Given the description of an element on the screen output the (x, y) to click on. 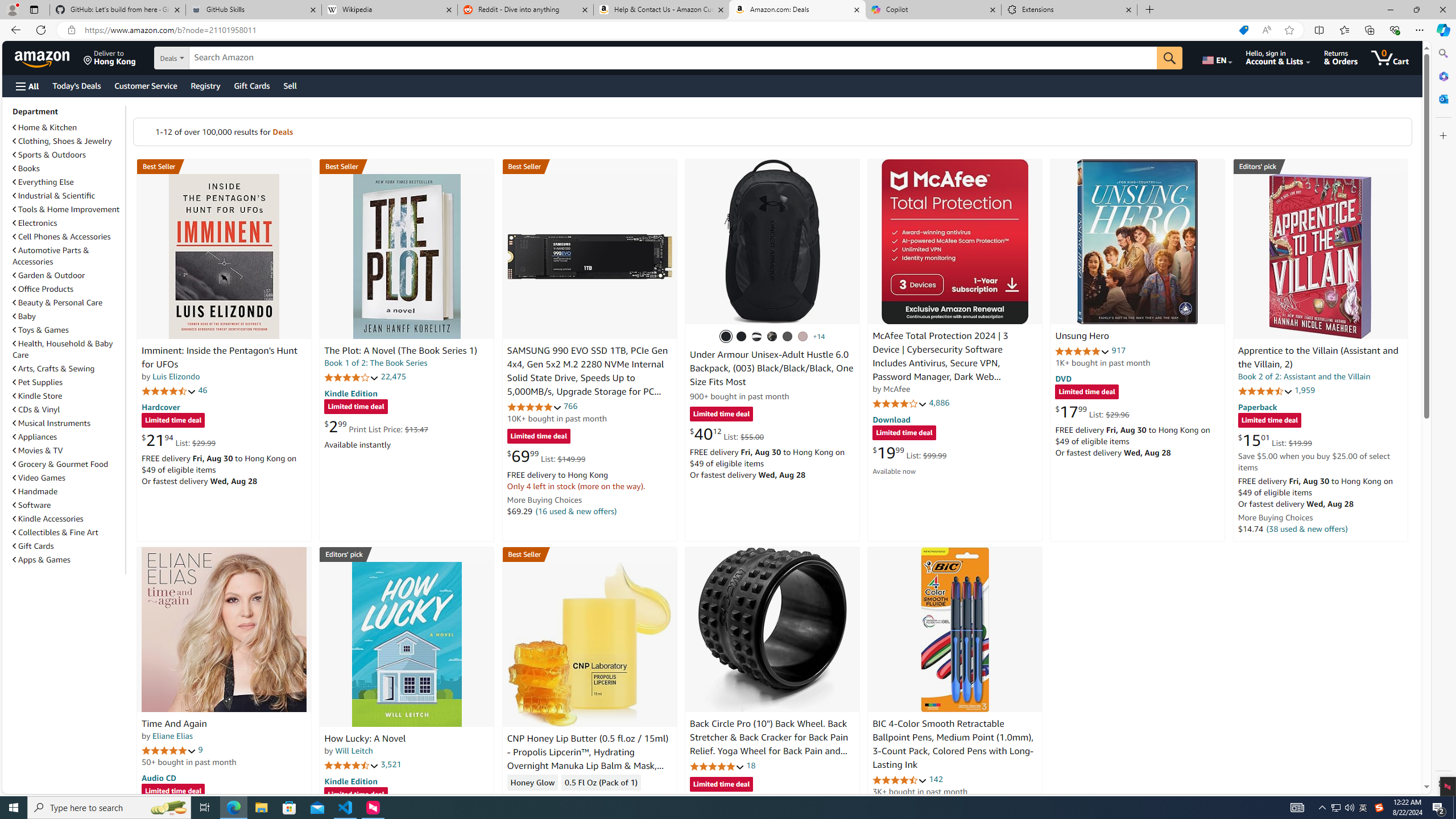
Book 2 of 2: Assistant and the Villain (1303, 376)
22,475 (393, 376)
(005) Black Full Heather / Black / Metallic Gold (788, 336)
GitHub Skills (253, 9)
9 (200, 749)
Everything Else (67, 181)
4.6 out of 5 stars (899, 779)
Unsung Hero (1137, 241)
The Plot: A Novel (The Book Series 1) (406, 256)
Baby (24, 316)
Hardcover (160, 406)
The Plot: A Novel (The Book Series 1) (400, 351)
Grocery & Gourmet Food (61, 463)
